Given the description of an element on the screen output the (x, y) to click on. 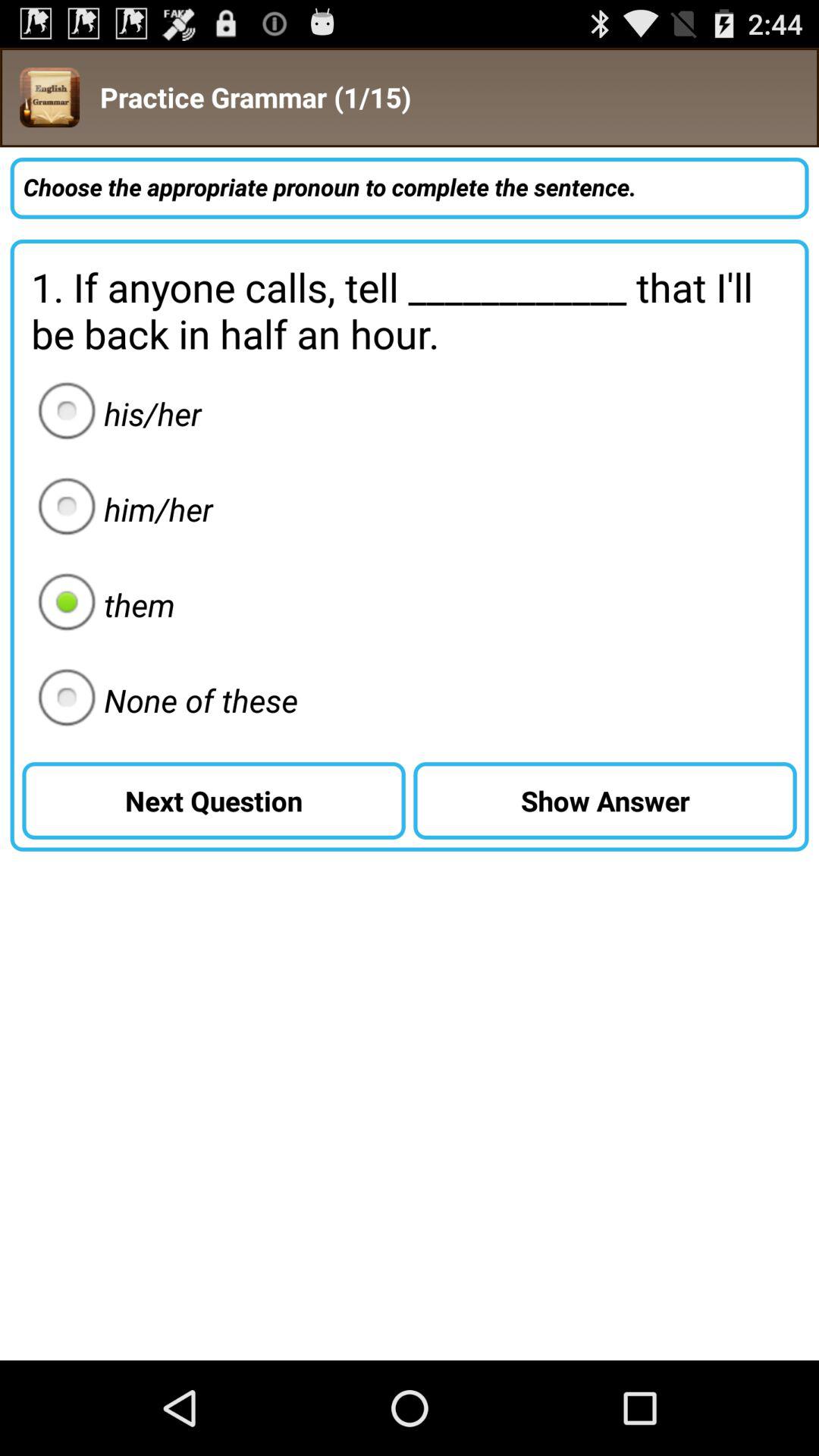
swipe to the them item (101, 604)
